Given the description of an element on the screen output the (x, y) to click on. 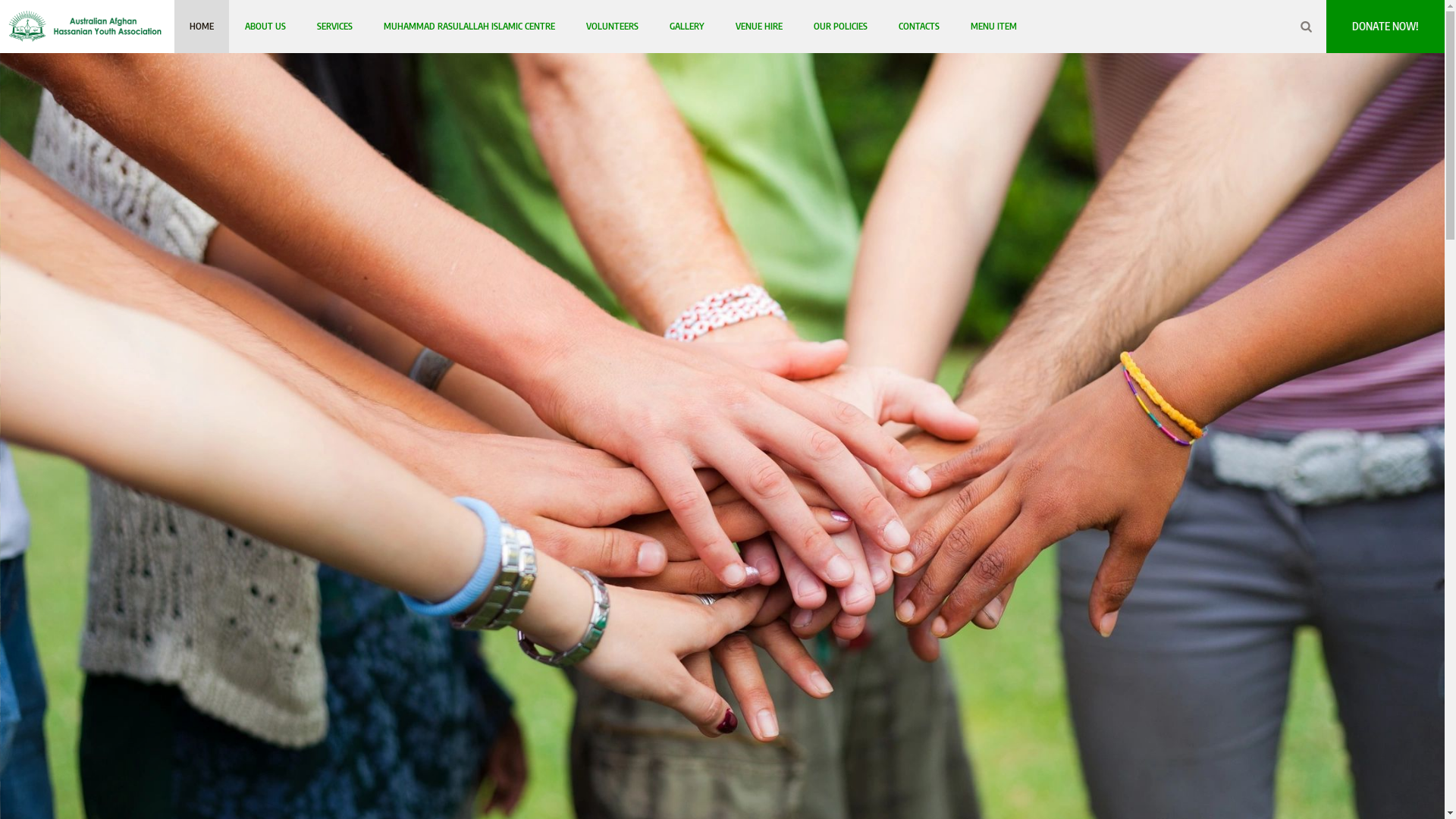
VOLUNTEERS Element type: text (612, 26)
HOME Element type: text (201, 26)
SERVICES Element type: text (334, 26)
GALLERY Element type: text (686, 26)
ABOUT US Element type: text (265, 26)
MUHAMMAD RASULALLAH ISLAMIC CENTRE Element type: text (469, 26)
CONTACTS Element type: text (918, 26)
DONATE NOW! Element type: text (1385, 26)
OUR POLICIES Element type: text (840, 26)
VENUE HIRE Element type: text (758, 26)
MENU ITEM Element type: text (993, 26)
